Given the description of an element on the screen output the (x, y) to click on. 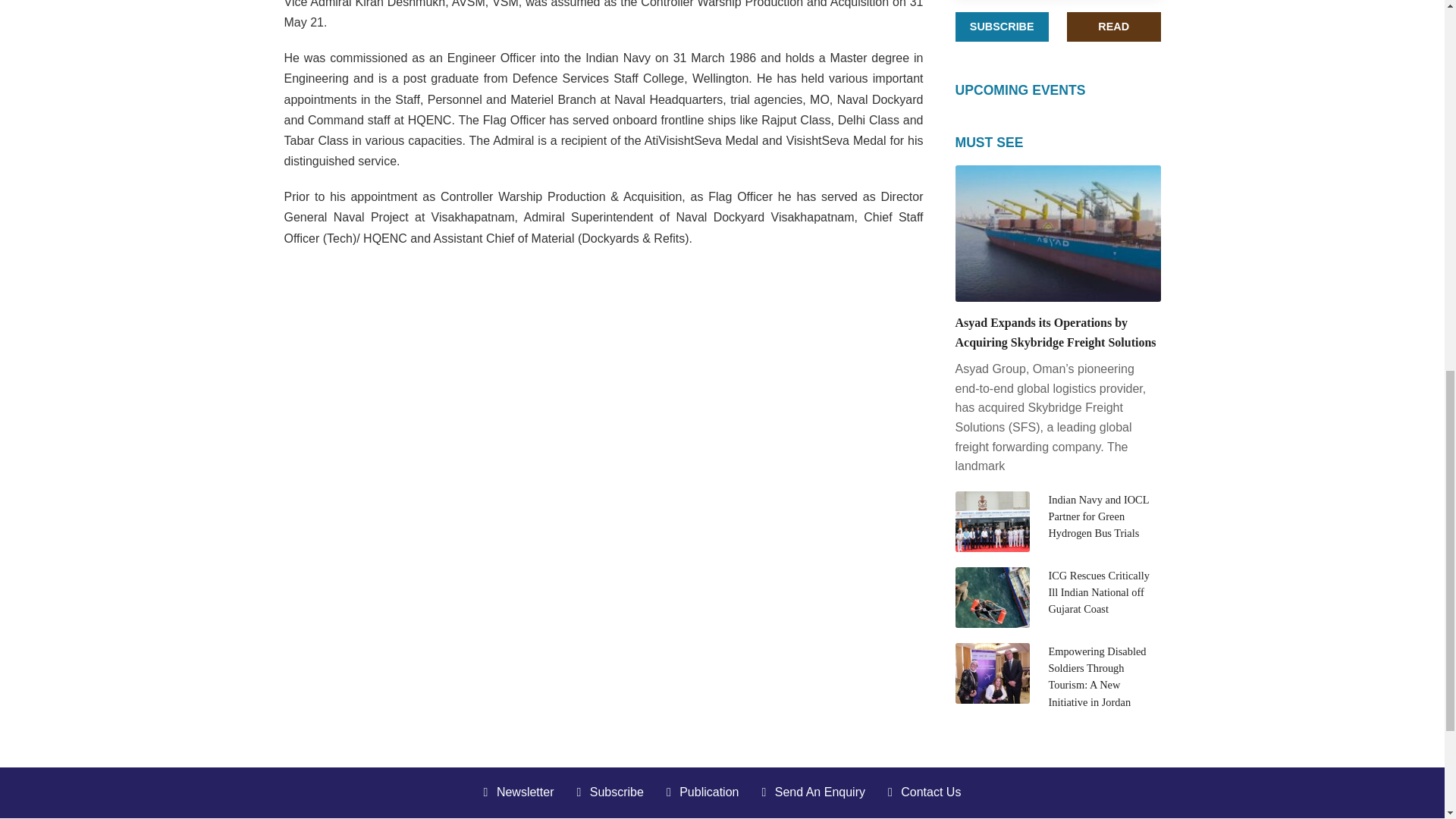
Indian Navy and IOCL Partner for Green Hydrogen Bus Trials (1098, 516)
ICG Rescues Critically Ill Indian National off Gujarat Coast (1099, 592)
SUBSCRIBE (1002, 27)
Indian Navy and IOCL Partner for Green Hydrogen Bus Trials (1098, 516)
Newsletter (518, 791)
READ (1113, 27)
ICG Rescues Critically Ill Indian National off Gujarat Coast (1099, 592)
